Given the description of an element on the screen output the (x, y) to click on. 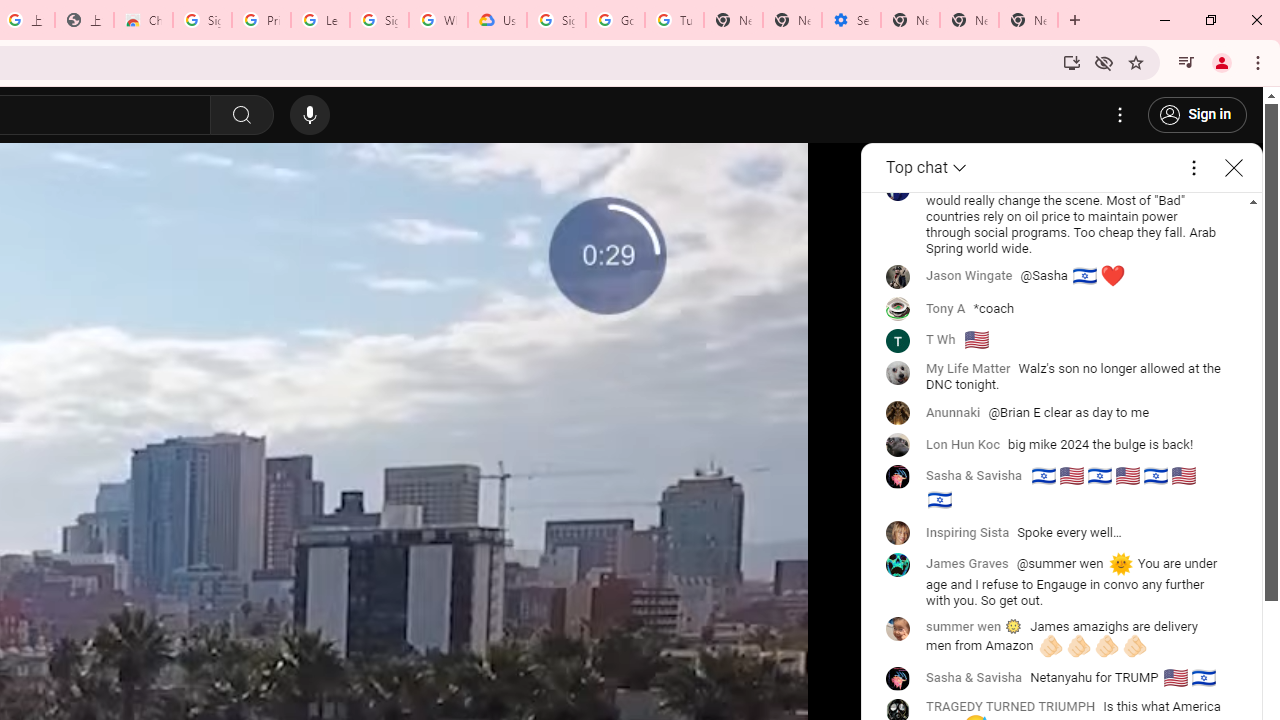
Sign in - Google Accounts (379, 20)
Settings - Addresses and more (850, 20)
New Tab (1028, 20)
Search with your voice (309, 115)
